Given the description of an element on the screen output the (x, y) to click on. 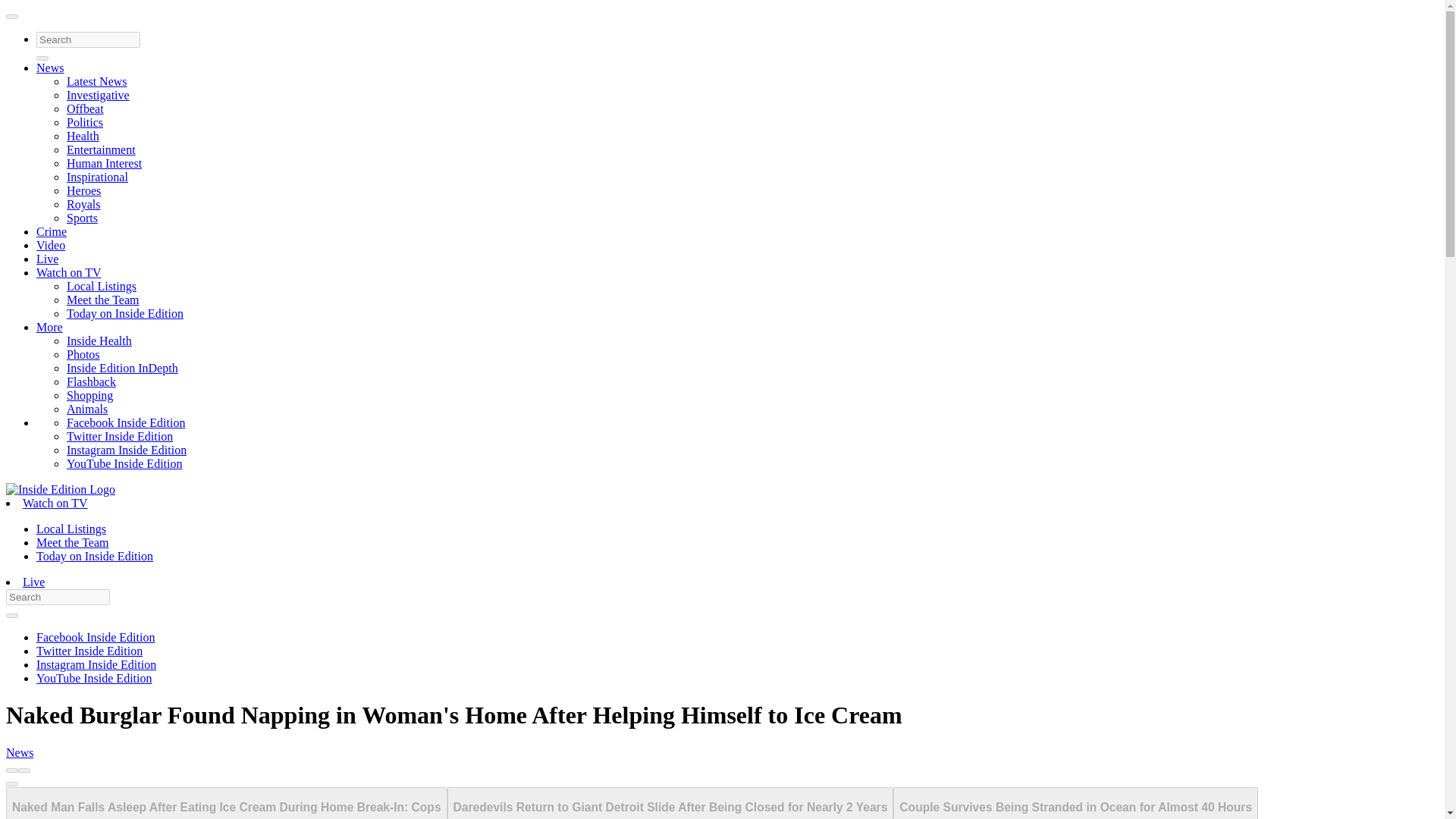
Inspirational (97, 176)
Meet the Team (71, 542)
Human Interest (103, 163)
Sports (81, 217)
Today on Inside Edition (94, 555)
Enter the terms you wish to search for. (57, 596)
Meet the Team (102, 299)
Heroes (83, 190)
Today on Inside Edition (124, 313)
Offbeat (84, 108)
Latest News (97, 81)
Flashback (91, 381)
YouTube Inside Edition (124, 463)
Entertainment (100, 149)
News (50, 67)
